Given the description of an element on the screen output the (x, y) to click on. 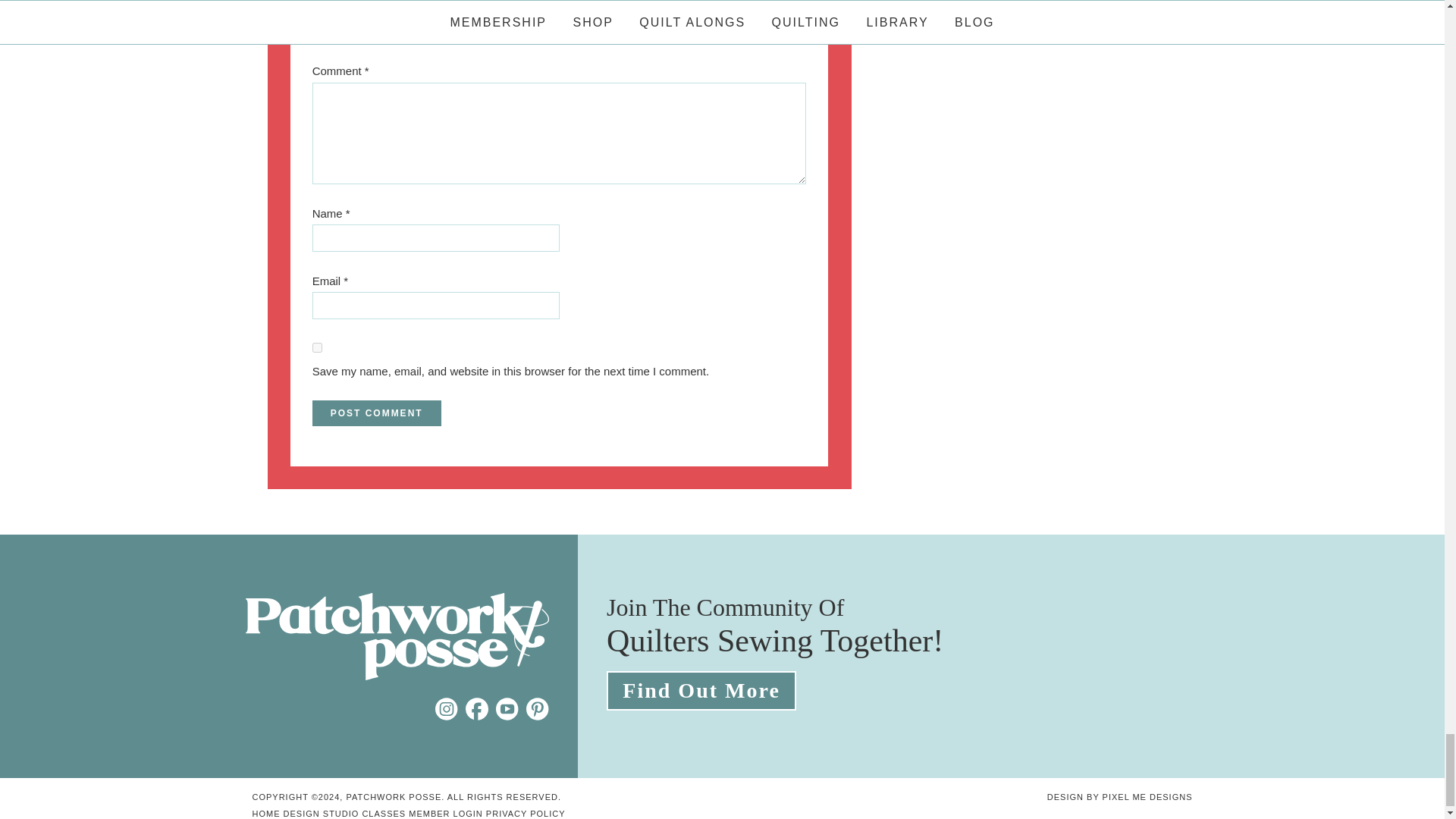
Post Comment (377, 412)
yes (317, 347)
